Given the description of an element on the screen output the (x, y) to click on. 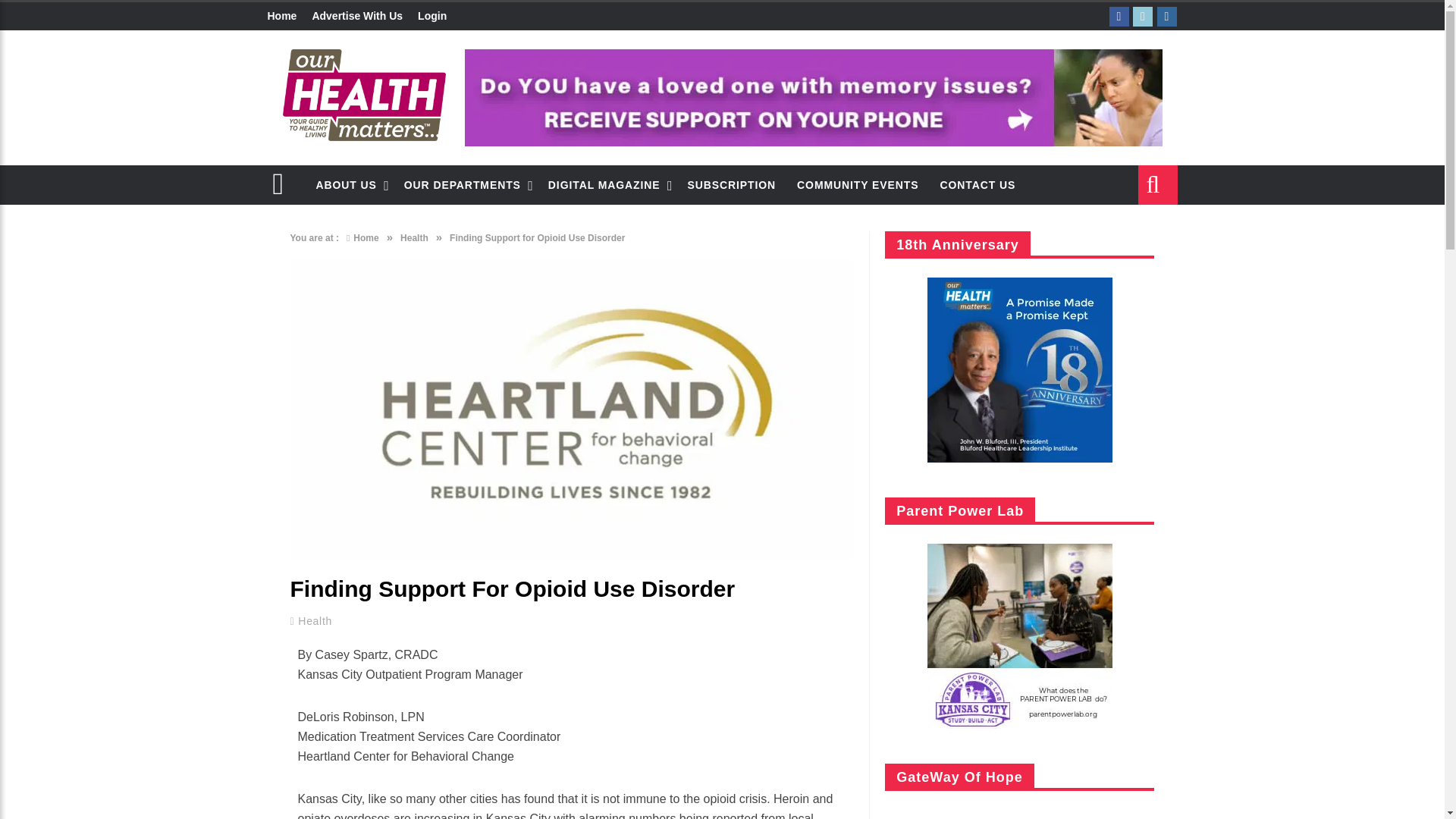
OUR DEPARTMENTS (465, 184)
Login (432, 16)
ABOUT US (348, 184)
Home (285, 16)
instagram (1166, 16)
HOME (285, 184)
KC Our Health Matters (363, 94)
Advertise With Us (357, 16)
LinkedIn (1142, 16)
Facebook (1118, 16)
Loved one with memory issues? (812, 97)
